Given the description of an element on the screen output the (x, y) to click on. 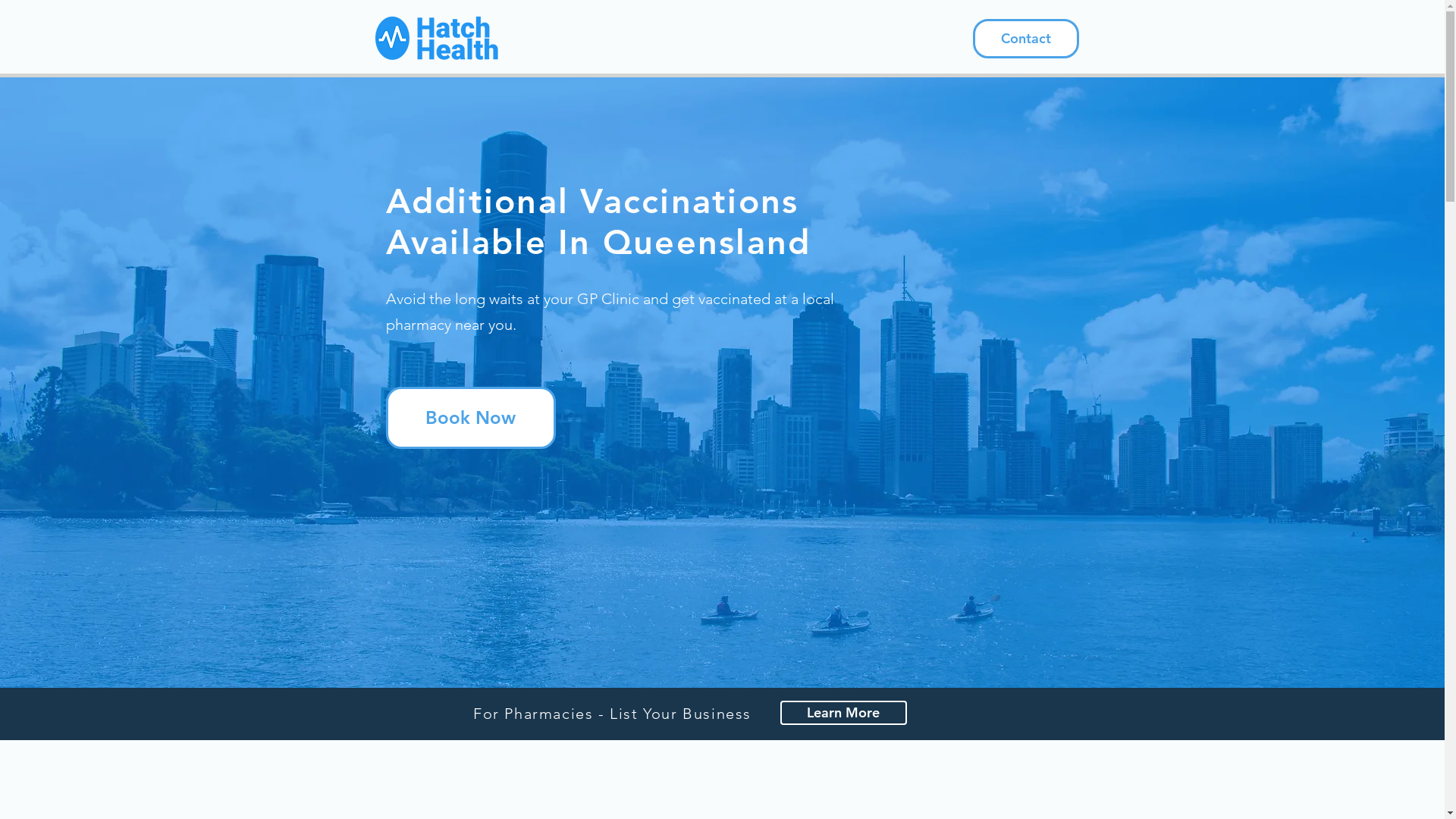
Learn More Element type: text (842, 712)
Hatch Health Logo.png Element type: hover (436, 38)
Book Now Element type: text (470, 417)
Contact Element type: text (1025, 38)
